Given the description of an element on the screen output the (x, y) to click on. 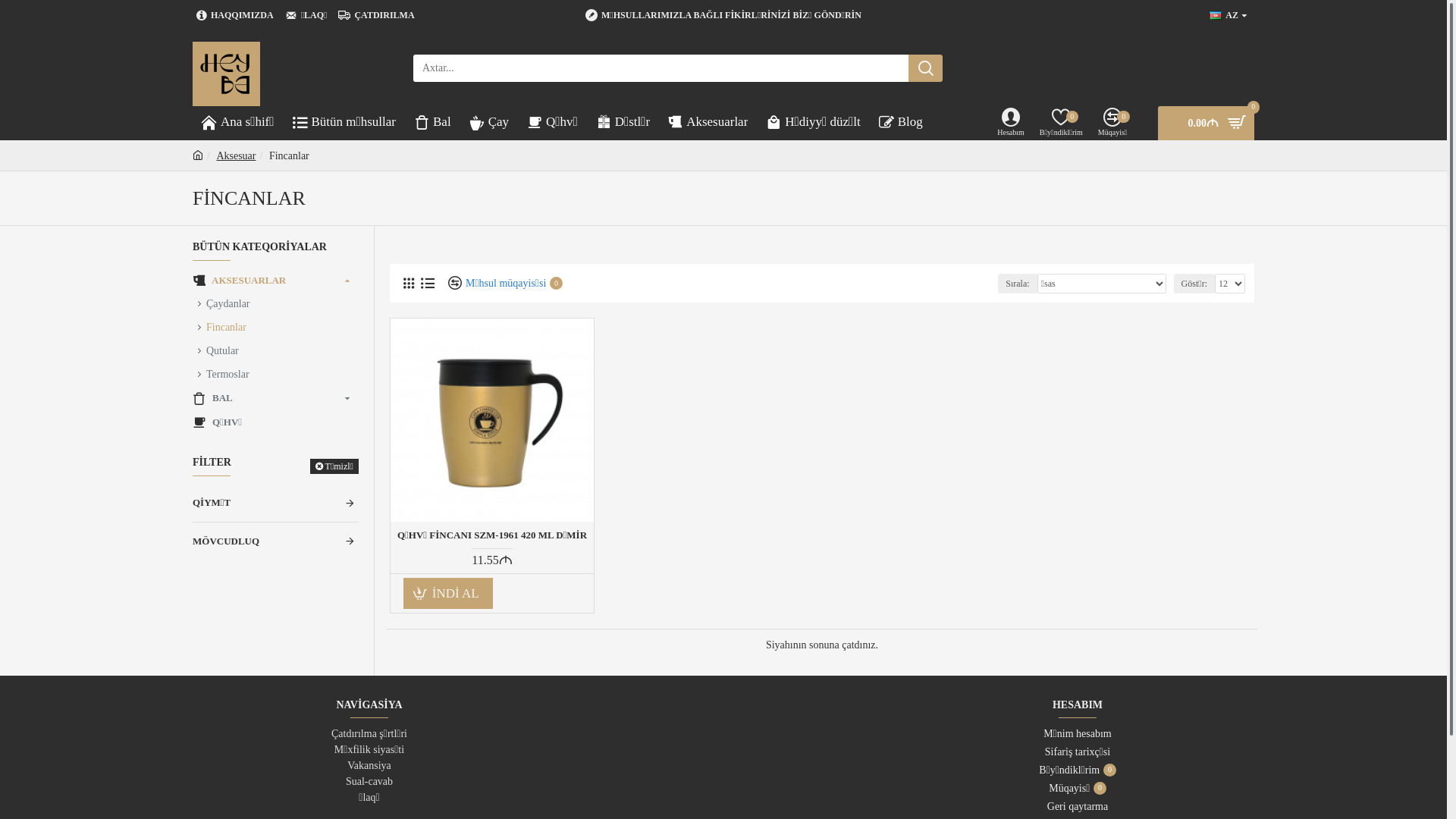
AZ Element type: text (1223, 14)
AZ Element type: hover (1215, 14)
Aksesuarlar Element type: text (707, 123)
Termoslar Element type: text (275, 373)
Blog Element type: text (900, 123)
Qutular Element type: text (275, 350)
BAL Element type: text (275, 397)
Sual-cavab Element type: text (368, 781)
HAQQIMIZDA Element type: text (234, 15)
Fincanlar Element type: text (289, 155)
Aksesuar Element type: text (235, 155)
0.00
M
0 Element type: text (1205, 123)
Bal Element type: text (432, 123)
Vakansiya Element type: text (369, 765)
Geri qaytarma Element type: text (1077, 807)
Fincanlar Element type: text (275, 326)
AKSESUARLAR Element type: text (275, 280)
